Given the description of an element on the screen output the (x, y) to click on. 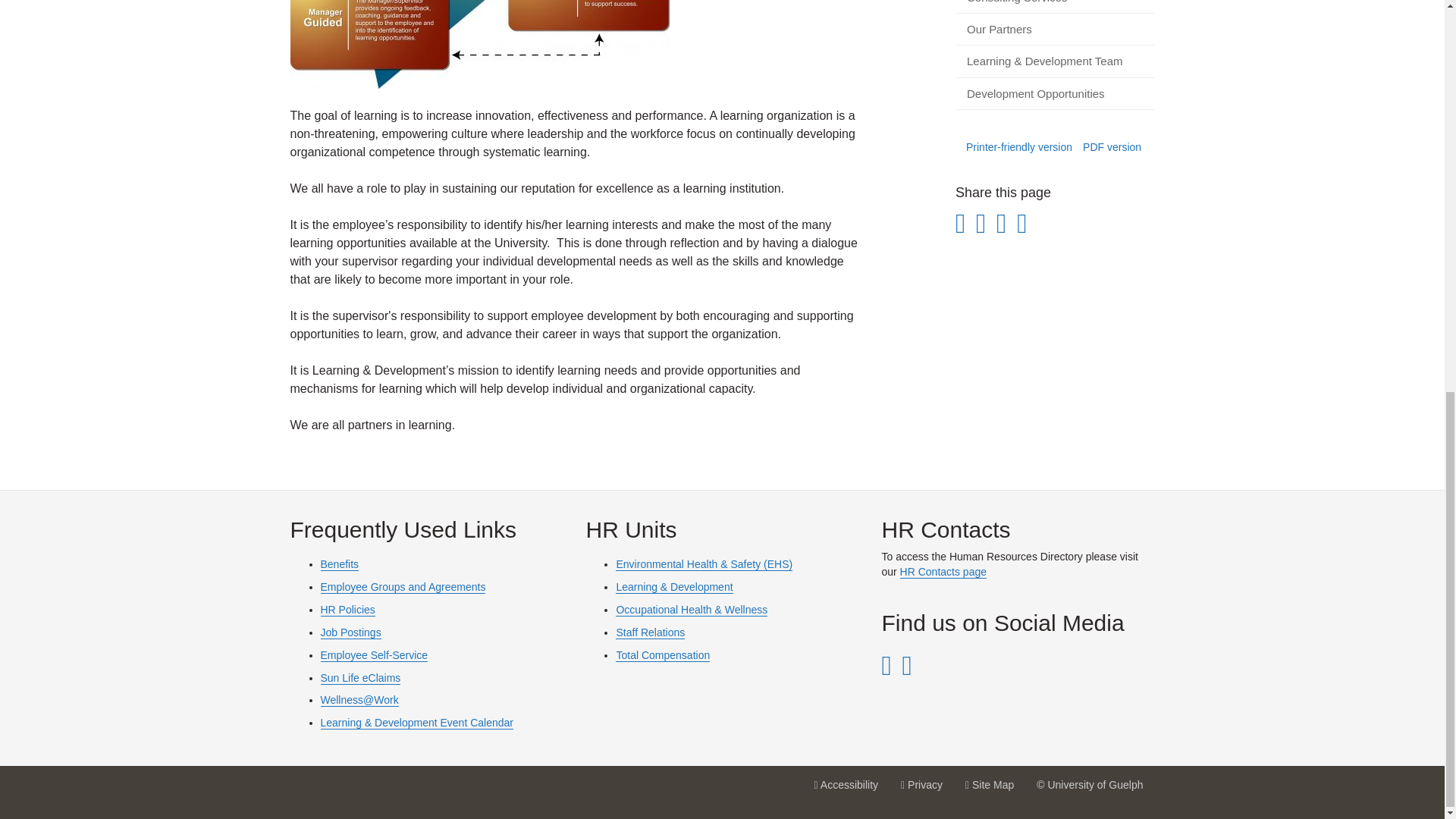
Display a printer-friendly version of this page. (1018, 146)
